Given the description of an element on the screen output the (x, y) to click on. 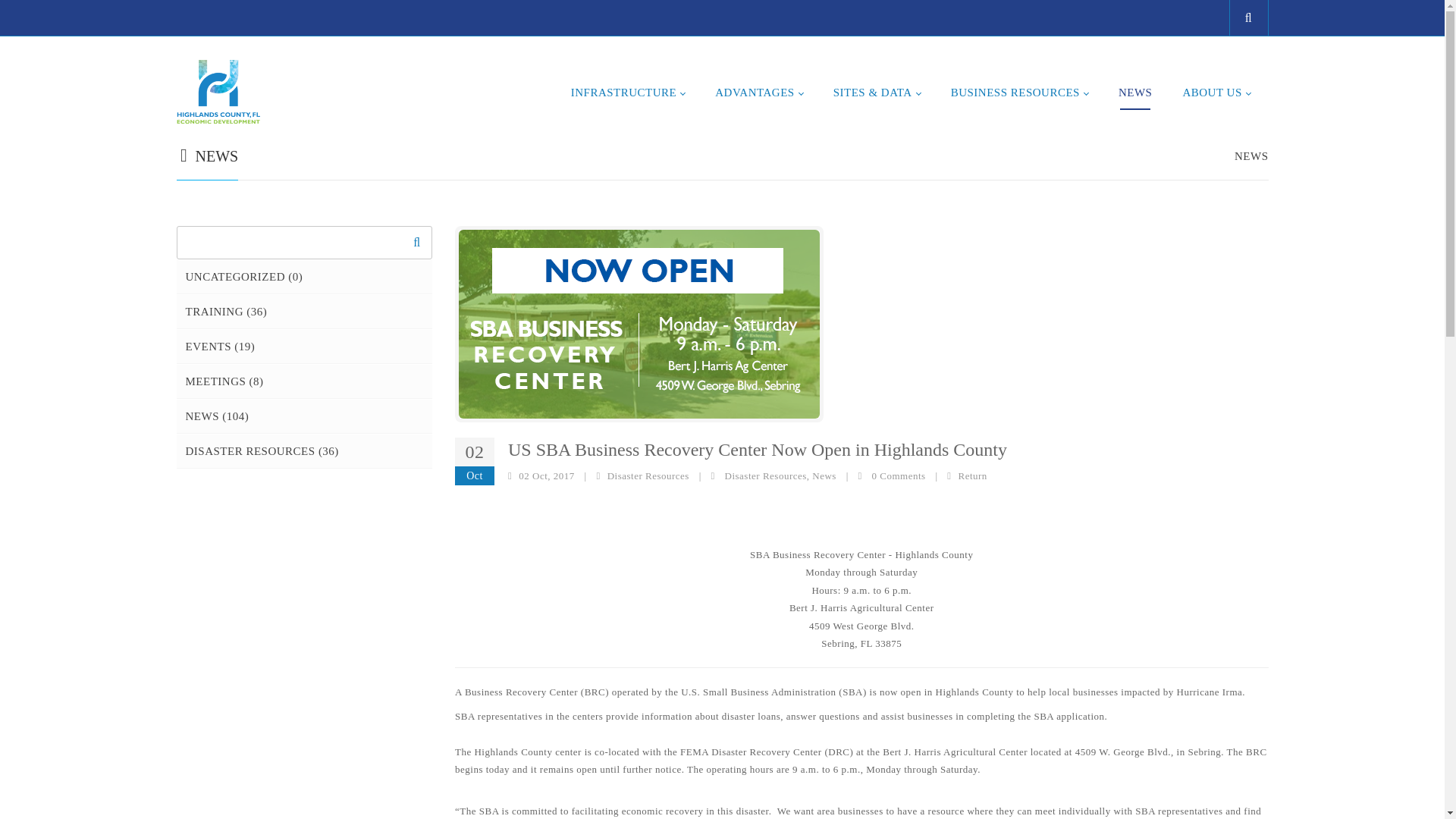
Search (416, 242)
